Given the description of an element on the screen output the (x, y) to click on. 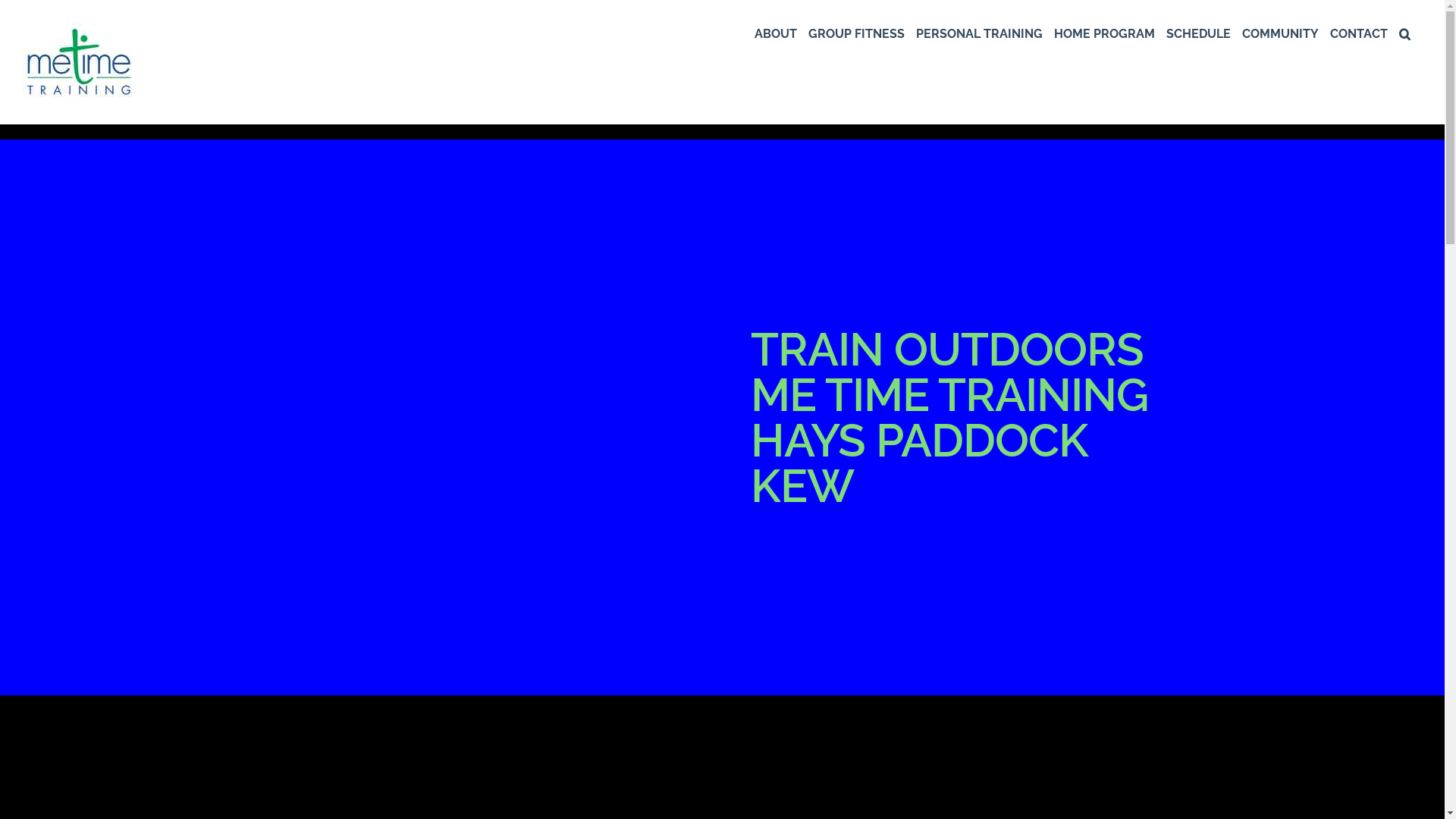
Search Element type: hover (1404, 32)
ABOUT Element type: text (775, 32)
COMMUNITY Element type: text (1280, 32)
HOME PROGRAM Element type: text (1104, 32)
GROUP FITNESS Element type: text (856, 32)
CONTACT Element type: text (1358, 32)
PERSONAL TRAINING Element type: text (979, 32)
SCHEDULE Element type: text (1198, 32)
